Given the description of an element on the screen output the (x, y) to click on. 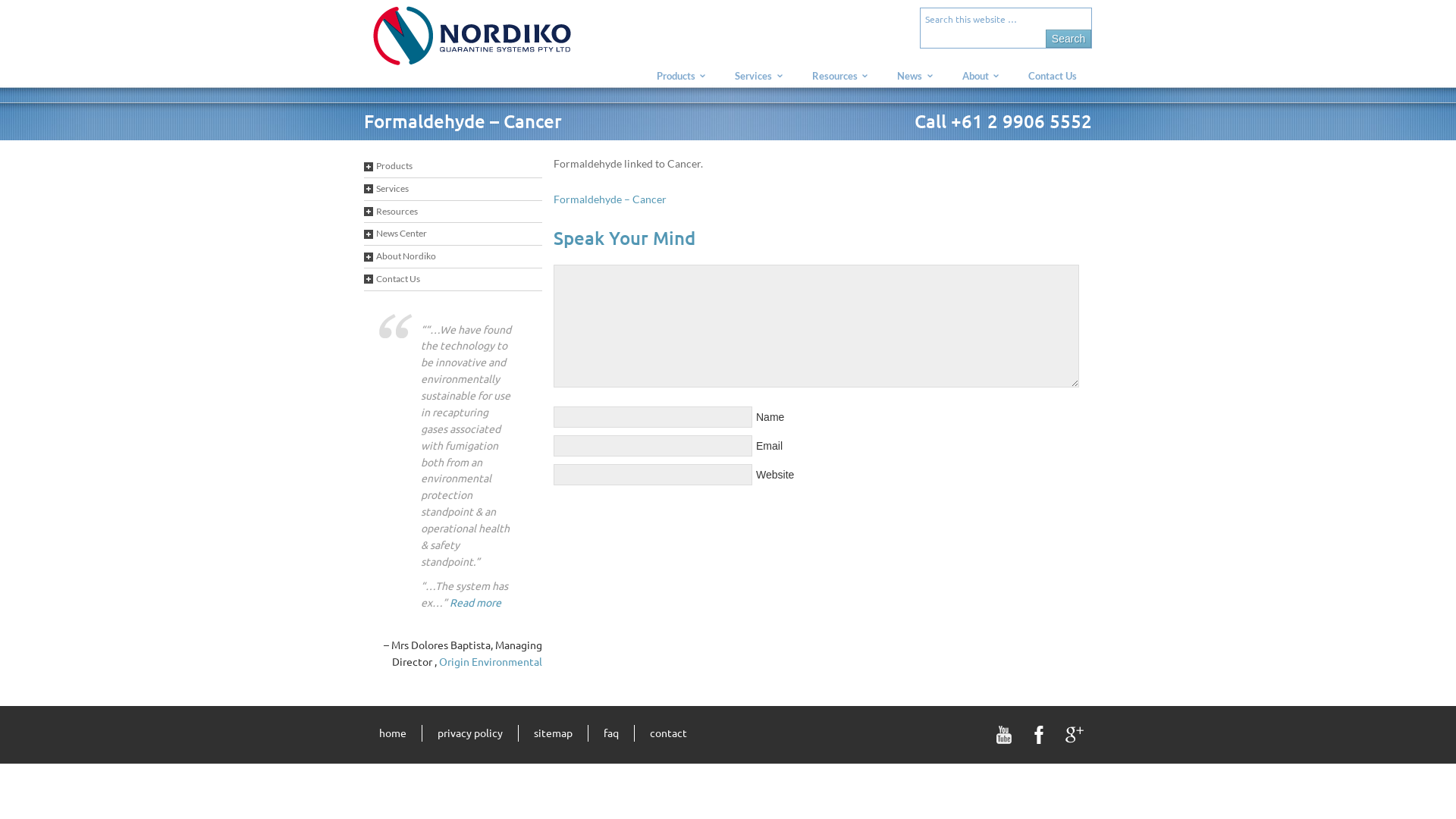
Search Element type: text (1068, 38)
Contact Us Element type: text (1052, 74)
Products Element type: text (680, 75)
NORDIKO Element type: text (496, 43)
About Element type: text (979, 75)
Read more Element type: text (475, 601)
faq Element type: text (610, 732)
Resources Element type: text (453, 211)
Resources Element type: text (838, 75)
Services Element type: text (758, 75)
Subscribe on YouTube Element type: hover (1004, 734)
Post Comment Element type: text (41, 11)
home Element type: text (392, 732)
News Element type: text (914, 75)
Origin Environmental Element type: text (490, 661)
contact Element type: text (668, 732)
Follow us on Google+ Element type: hover (1074, 734)
privacy policy Element type: text (469, 732)
sitemap Element type: text (552, 732)
News Center Element type: text (453, 233)
Services Element type: text (453, 189)
Connect us on Facebook Element type: hover (1039, 734)
Products Element type: text (453, 166)
About Nordiko Element type: text (453, 256)
Call +61 2 9906 5552 Element type: text (1003, 120)
Contact Us Element type: text (453, 279)
